Given the description of an element on the screen output the (x, y) to click on. 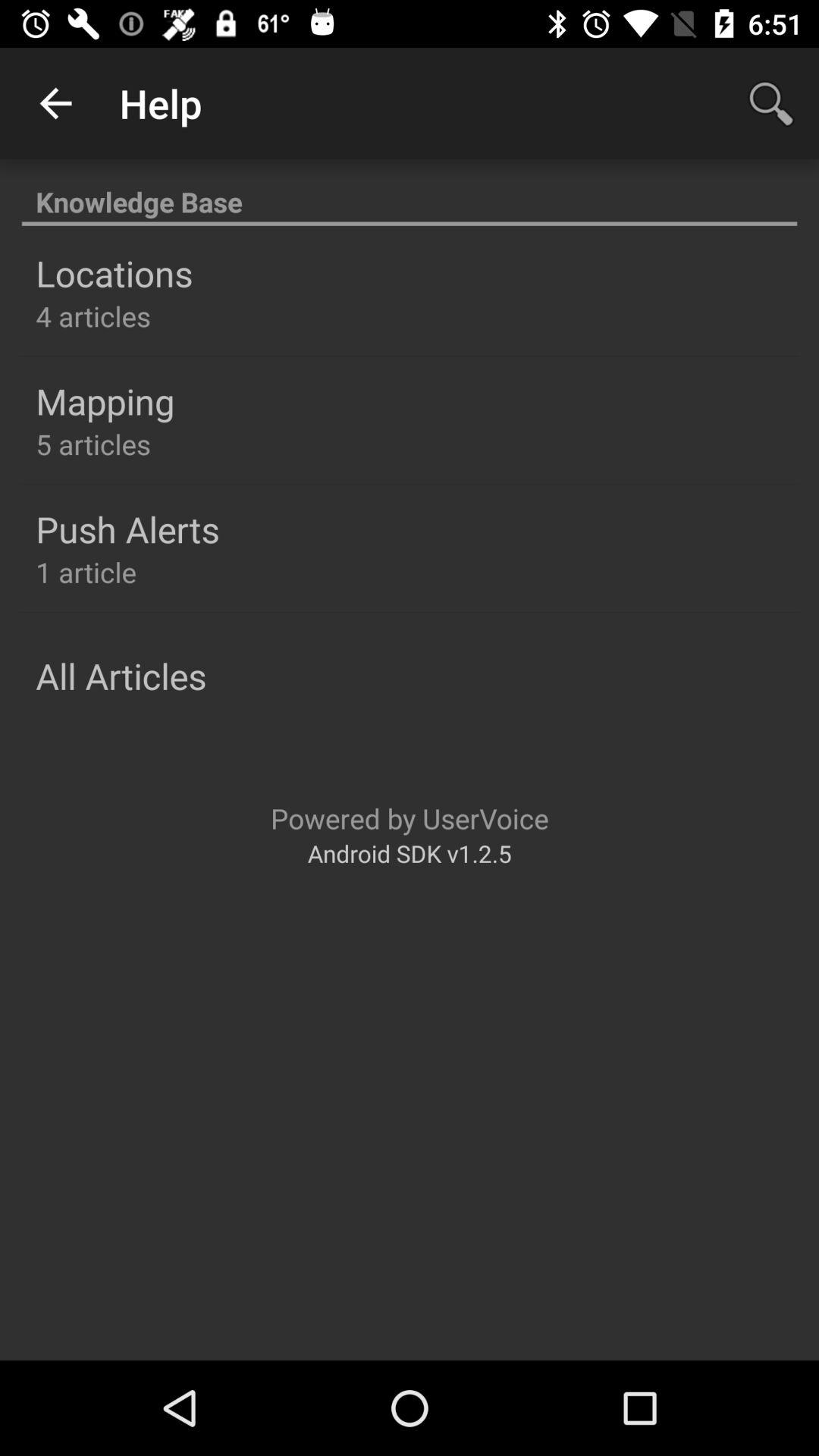
turn off the icon above powered by uservoice icon (120, 675)
